Given the description of an element on the screen output the (x, y) to click on. 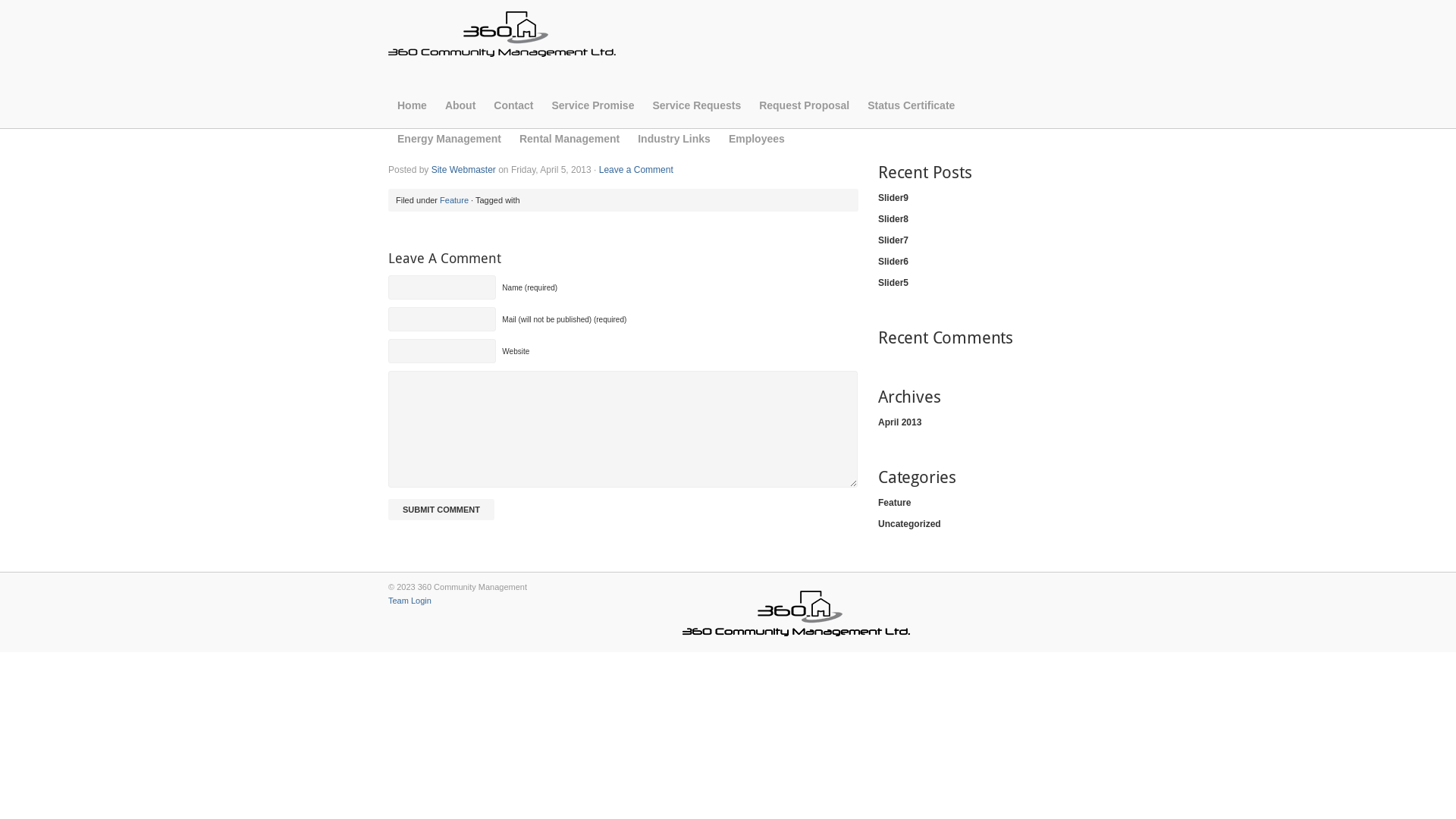
Rental Management Element type: text (569, 144)
About Element type: text (460, 111)
Contact Element type: text (513, 111)
Site Webmaster Element type: text (463, 169)
Feature Element type: text (972, 502)
Service Promise Element type: text (592, 111)
360 Community Management Element type: text (501, 49)
Slider6 Element type: text (972, 261)
Service Requests Element type: text (696, 111)
Slider9 Element type: text (972, 197)
Feature Element type: text (453, 199)
Employees Element type: text (756, 144)
Uncategorized Element type: text (972, 523)
April 2013 Element type: text (972, 422)
Home Element type: text (412, 111)
Submit Comment Element type: text (441, 509)
Slider5 Element type: text (972, 282)
Slider7 Element type: text (972, 240)
Team Login Element type: text (409, 600)
Request Proposal Element type: text (803, 111)
Status Certificate Element type: text (910, 111)
Leave a Comment Element type: text (636, 169)
Slider8 Element type: text (972, 218)
Industry Links Element type: text (673, 144)
Energy Management Element type: text (449, 144)
